Given the description of an element on the screen output the (x, y) to click on. 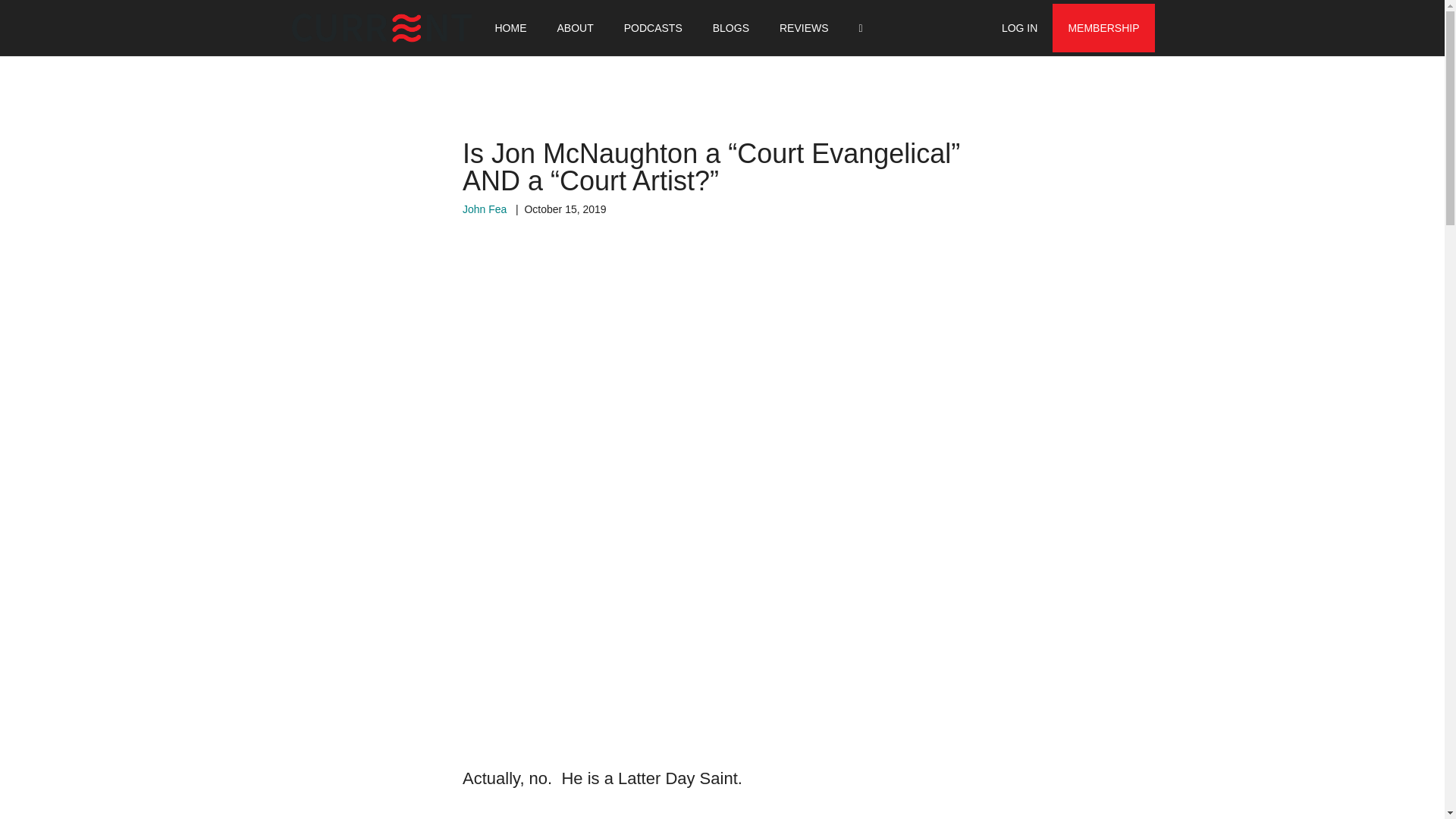
LOG IN (1019, 28)
MEDIA REQUESTS (808, 28)
ABOUT JOHN (491, 28)
PODCASTS (652, 28)
John Fea (484, 209)
WAY OF IMPROVEMENT (365, 28)
REVIEWS (804, 28)
ABOUT (574, 28)
BOOKS (628, 28)
take (886, 817)
